Given the description of an element on the screen output the (x, y) to click on. 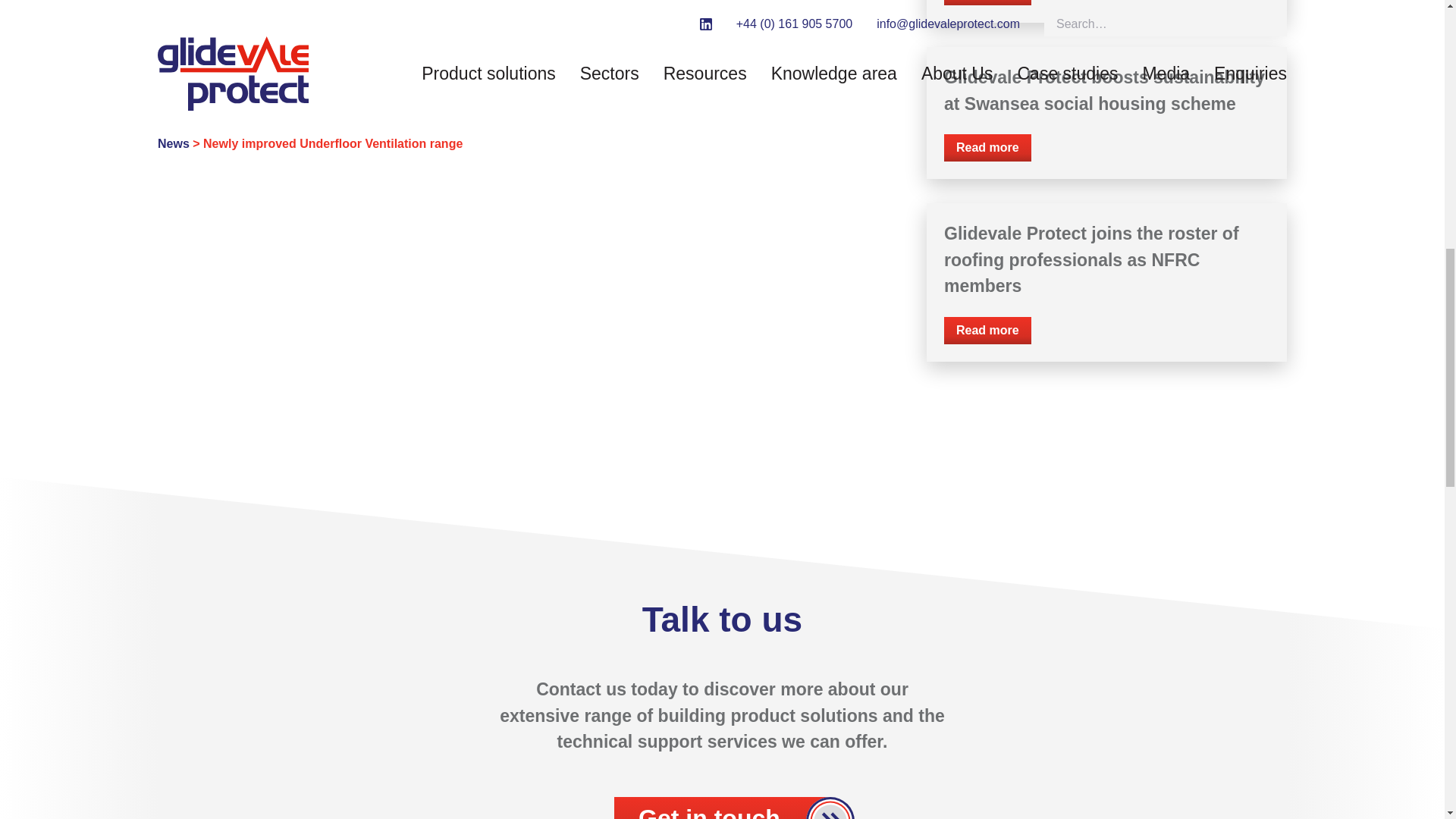
Get in touch (721, 807)
